Given the description of an element on the screen output the (x, y) to click on. 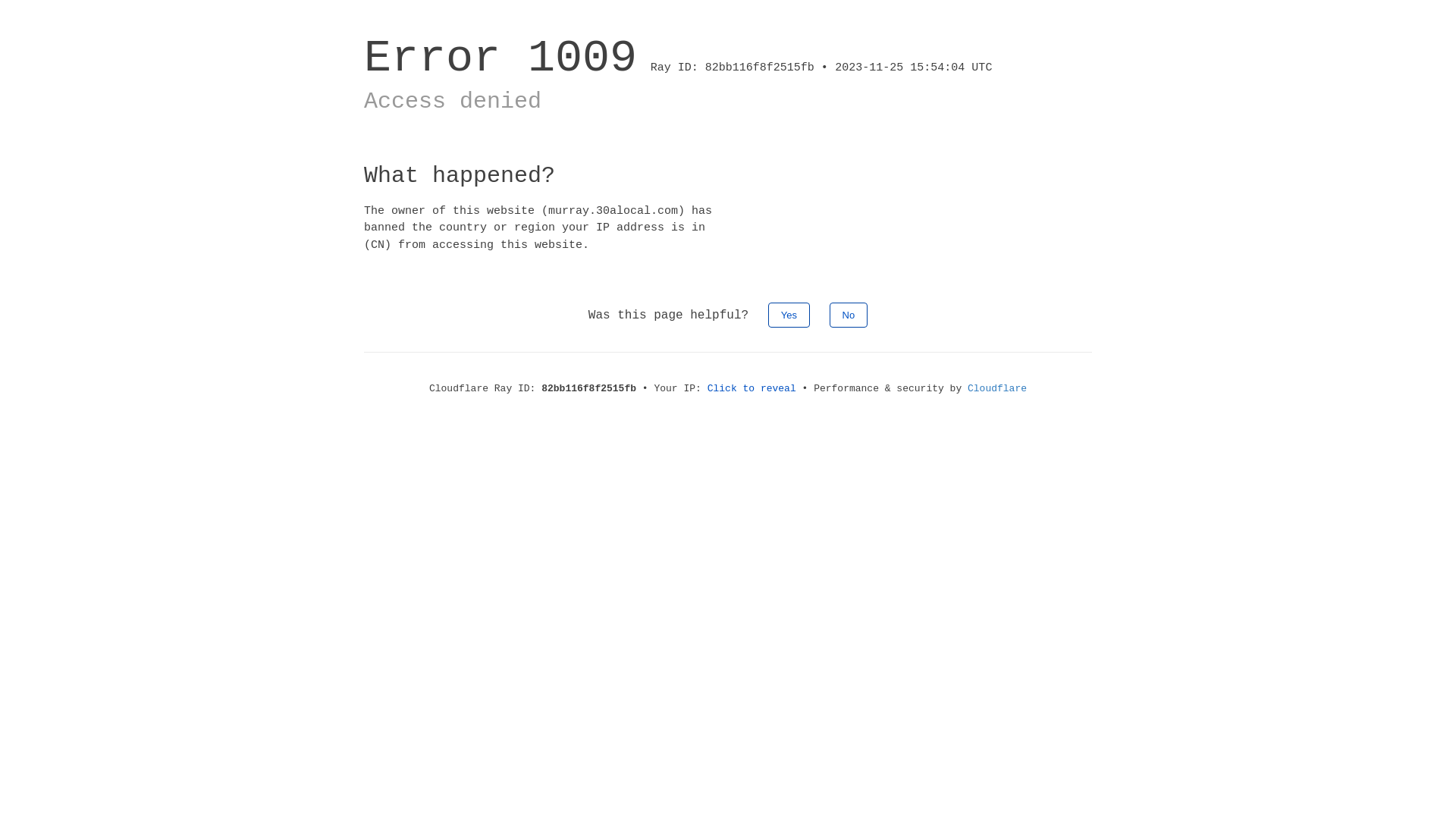
No Element type: text (848, 314)
Yes Element type: text (788, 314)
Cloudflare Element type: text (996, 388)
Click to reveal Element type: text (751, 388)
